Given the description of an element on the screen output the (x, y) to click on. 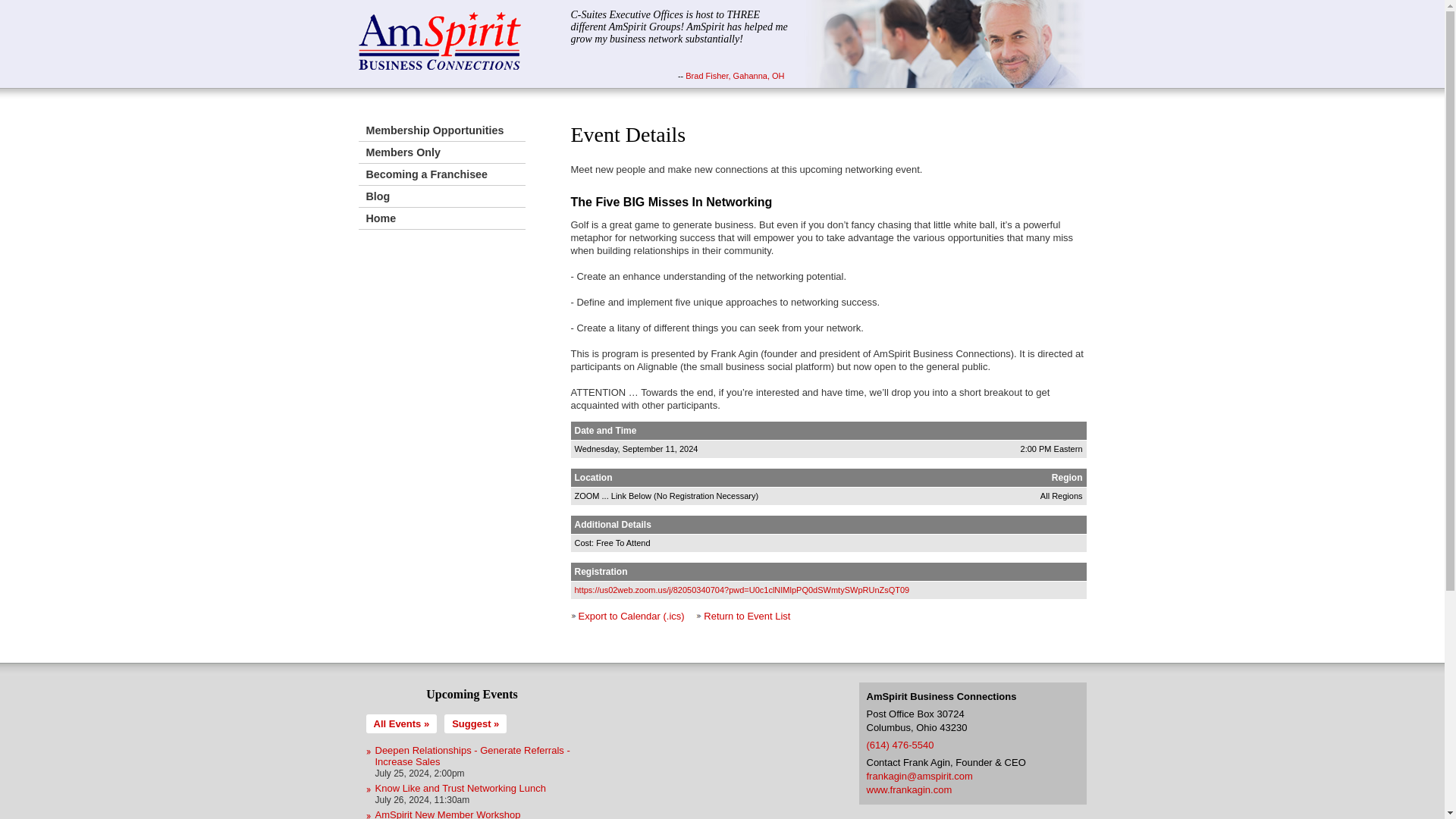
Blog (441, 196)
Members Only (441, 152)
Know Like and Trust Networking Lunch (459, 787)
AmSpirit New Member Workshop (446, 814)
AmSpirit New Member Workshop (446, 814)
Return to Event List (746, 615)
Frank Agin (909, 789)
AmSpirit Business Connections, Inc. (439, 41)
Brad Fisher, Gahanna, OH (734, 75)
www.frankagin.com (909, 789)
Deepen Relationships - Generate Referrals - Increase Sales (471, 755)
Membership Opportunities (441, 130)
Calendar (400, 723)
Becoming a Franchisee (441, 174)
Home (441, 219)
